Given the description of an element on the screen output the (x, y) to click on. 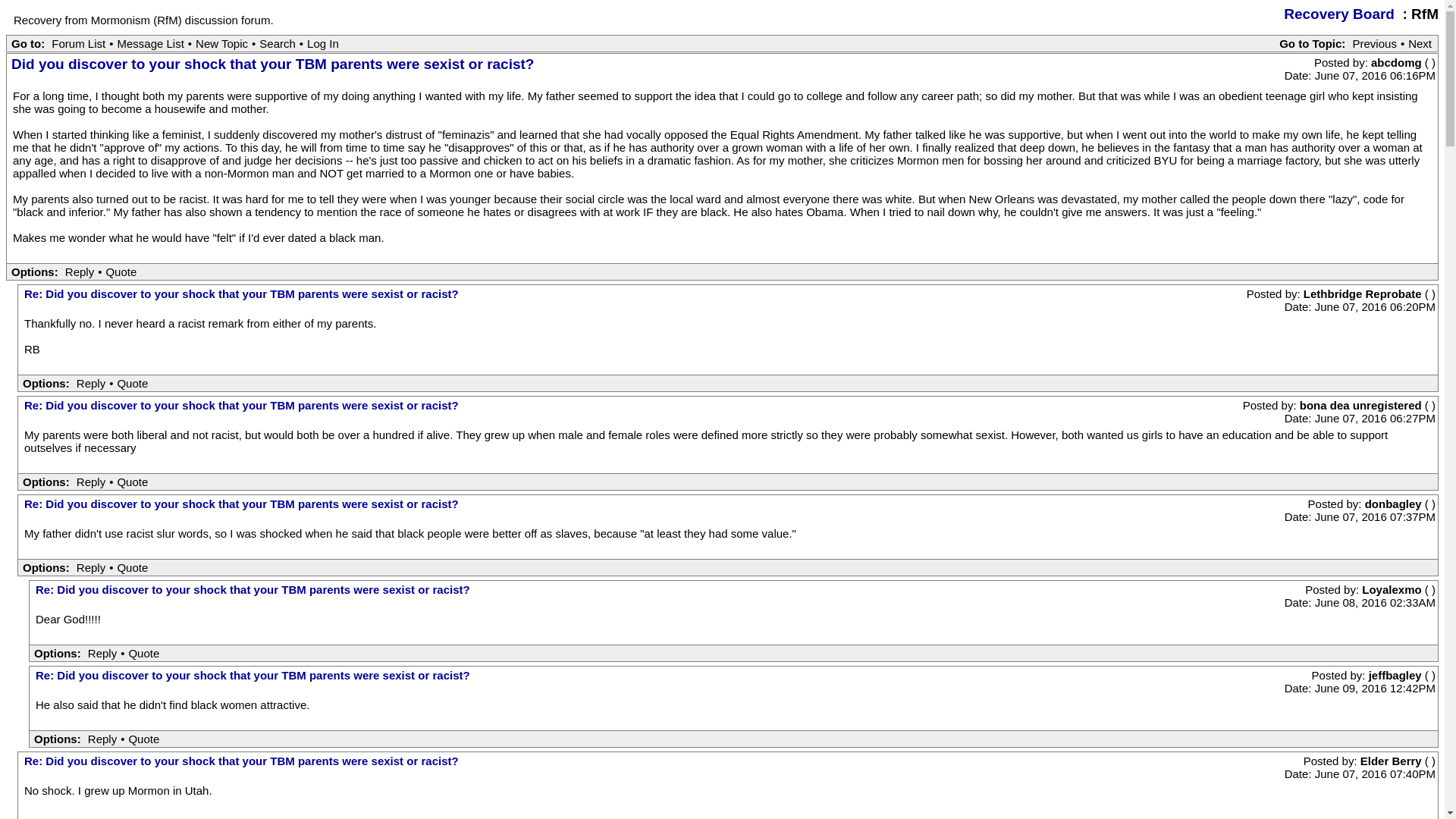
Reply (90, 567)
Log In (322, 43)
New Topic (221, 43)
Reply (79, 271)
Search (277, 43)
Previous (1374, 43)
Recovery Board (1339, 13)
Reply (90, 481)
